Given the description of an element on the screen output the (x, y) to click on. 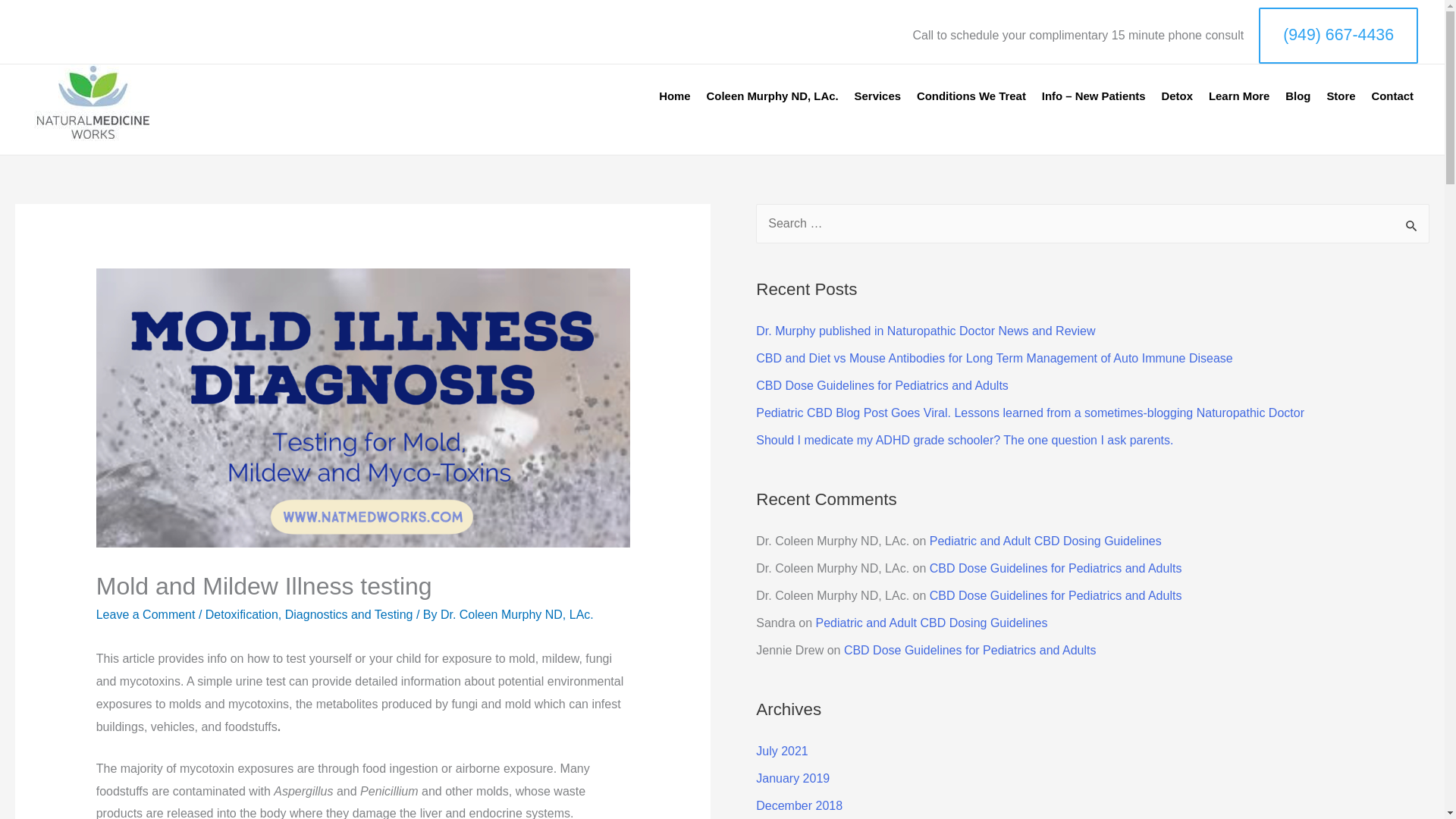
Dr. Coleen Murphy ND, LAc. (517, 614)
Services (874, 95)
Detox (1173, 95)
Detoxification (241, 614)
Conditions We Treat (967, 95)
Diagnostics and Testing (349, 614)
Contact (1388, 95)
Coleen Murphy ND, LAc. (769, 95)
Learn More (1235, 95)
View all posts by Dr. Coleen Murphy ND, LAc. (517, 614)
Store (1336, 95)
Leave a Comment (145, 614)
Home (670, 95)
Dr. Murphy published in Naturopathic Doctor News and Review (924, 330)
